Given the description of an element on the screen output the (x, y) to click on. 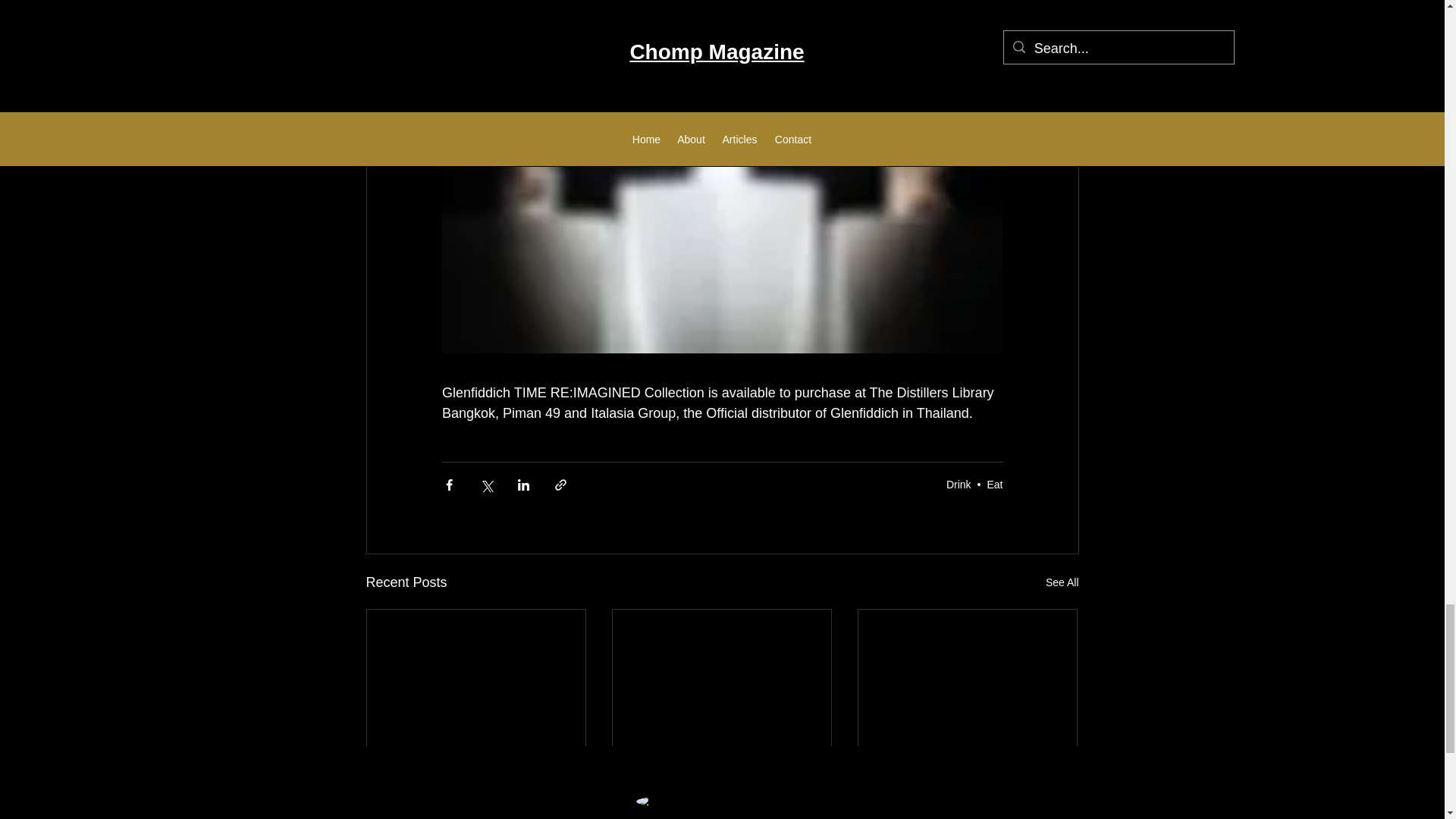
Eat (995, 484)
See All (1061, 582)
Drink (958, 484)
